Given the description of an element on the screen output the (x, y) to click on. 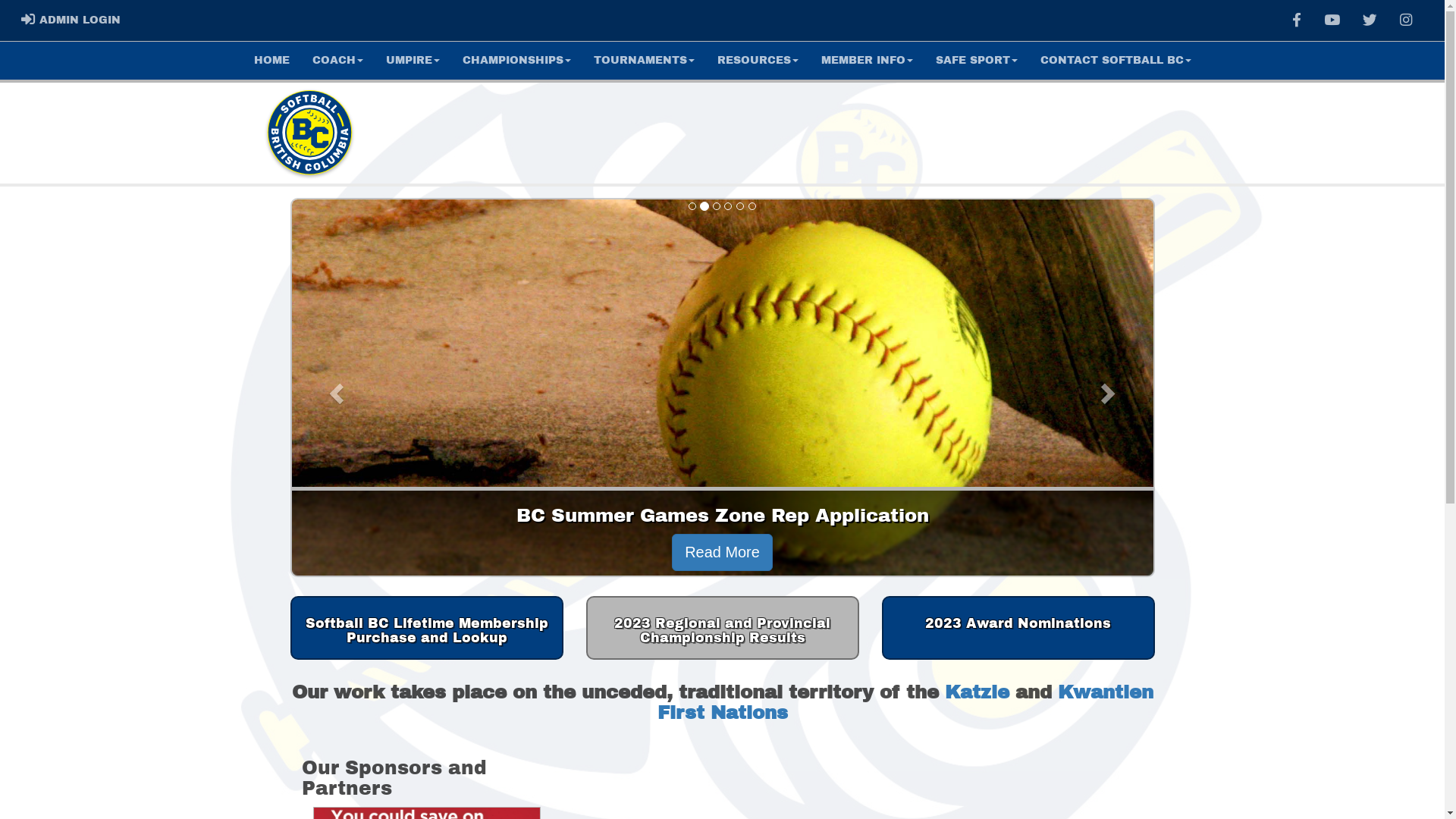
TOURNAMENTS Element type: text (644, 60)
2023 Award Nominations Element type: text (1017, 627)
LOGIN PAGE
 ADMIN LOGIN
ADMIN LOGIN Element type: text (70, 20)
Instagram Element type: text (1405, 20)
COACH Element type: text (336, 60)
instagram Element type: hover (1405, 19)
MEMBER INFO Element type: text (866, 60)
Softball BC Lifetime Membership Purchase and Lookup Element type: text (425, 627)
CONTACT SOFTBALL BC Element type: text (1114, 60)
Next Element type: text (1109, 388)
CHAMPIONSHIPS Element type: text (515, 60)
Katzie Element type: text (976, 692)
watch Element type: hover (1331, 19)
follow us Element type: hover (1369, 19)
HOME Element type: text (271, 60)
like us Element type: hover (1296, 19)
SAFE SPORT Element type: text (975, 60)
2023 Regional and Provincial Championship Results Element type: text (721, 627)
Kwantlen First Nations Element type: text (904, 702)
Read More Element type: text (721, 552)
UMPIRE Element type: text (412, 60)
Login Page Element type: hover (28, 18)
RESOURCES Element type: text (757, 60)
Facebook Element type: text (1296, 20)
Previous Element type: text (334, 388)
Youtube Element type: text (1331, 20)
Twitter Element type: text (1369, 20)
